Given the description of an element on the screen output the (x, y) to click on. 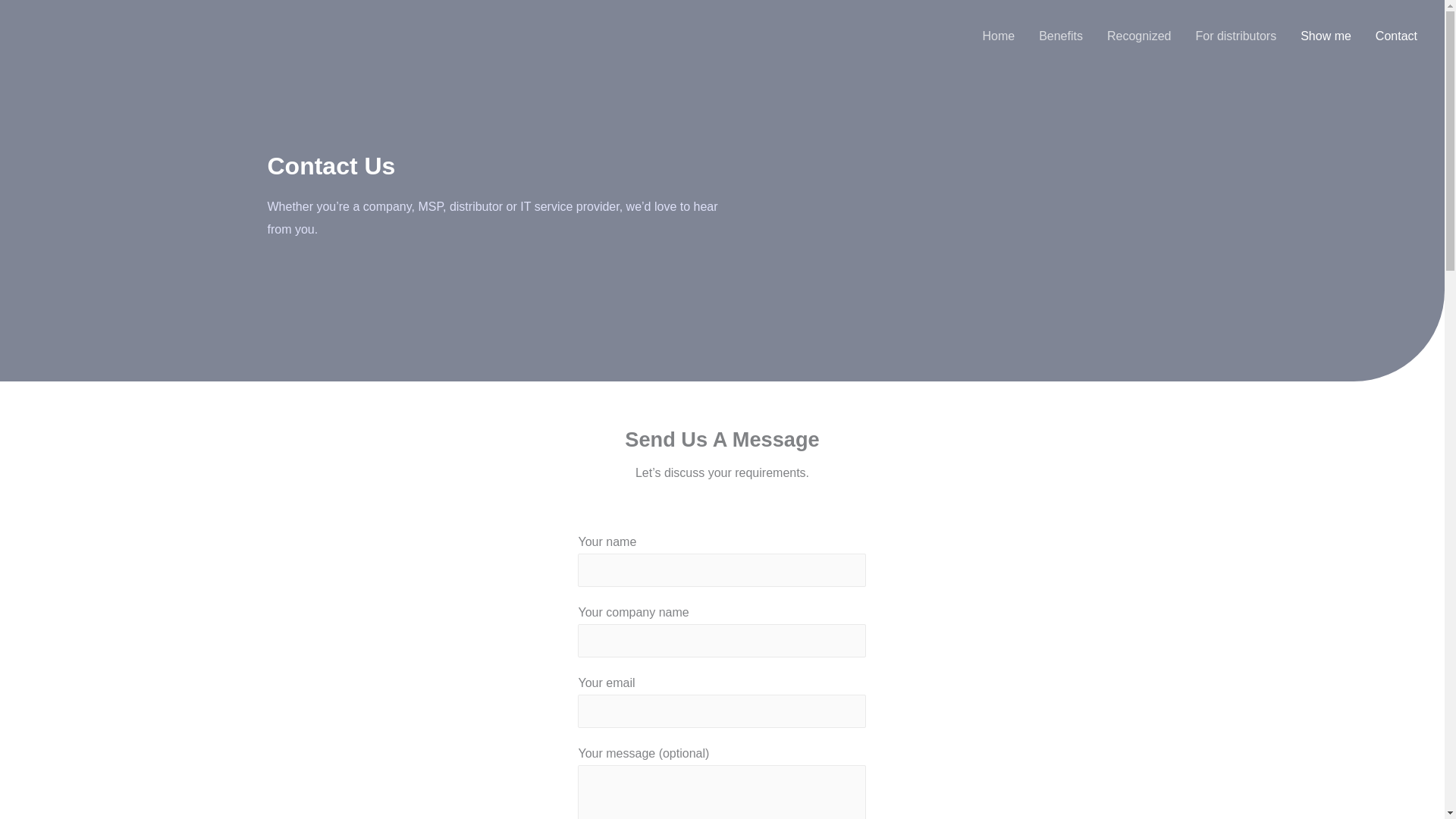
Show me (1325, 36)
Home (997, 36)
Benefits (1060, 36)
For distributors (1235, 36)
Recognized (1138, 36)
Contact (1395, 36)
